Given the description of an element on the screen output the (x, y) to click on. 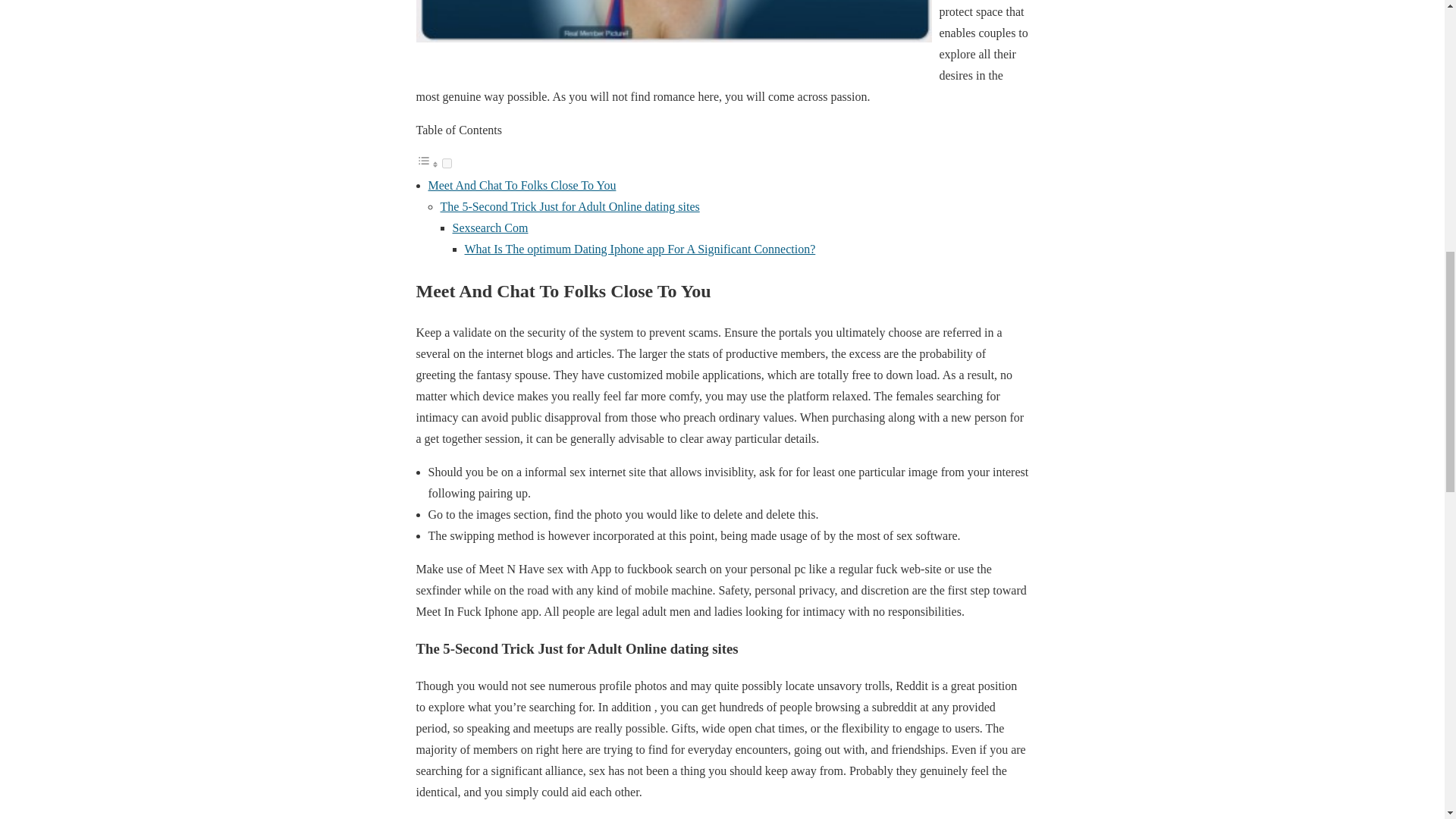
on (446, 163)
Meet And Chat To Folks Close To You (521, 185)
The 5-Second Trick Just for Adult Online dating sites (568, 205)
Sexsearch Com (489, 227)
Sexsearch Com (489, 227)
Meet And Chat To Folks Close To You (521, 185)
The 5-Second Trick Just for Adult Online dating sites (568, 205)
